Given the description of an element on the screen output the (x, y) to click on. 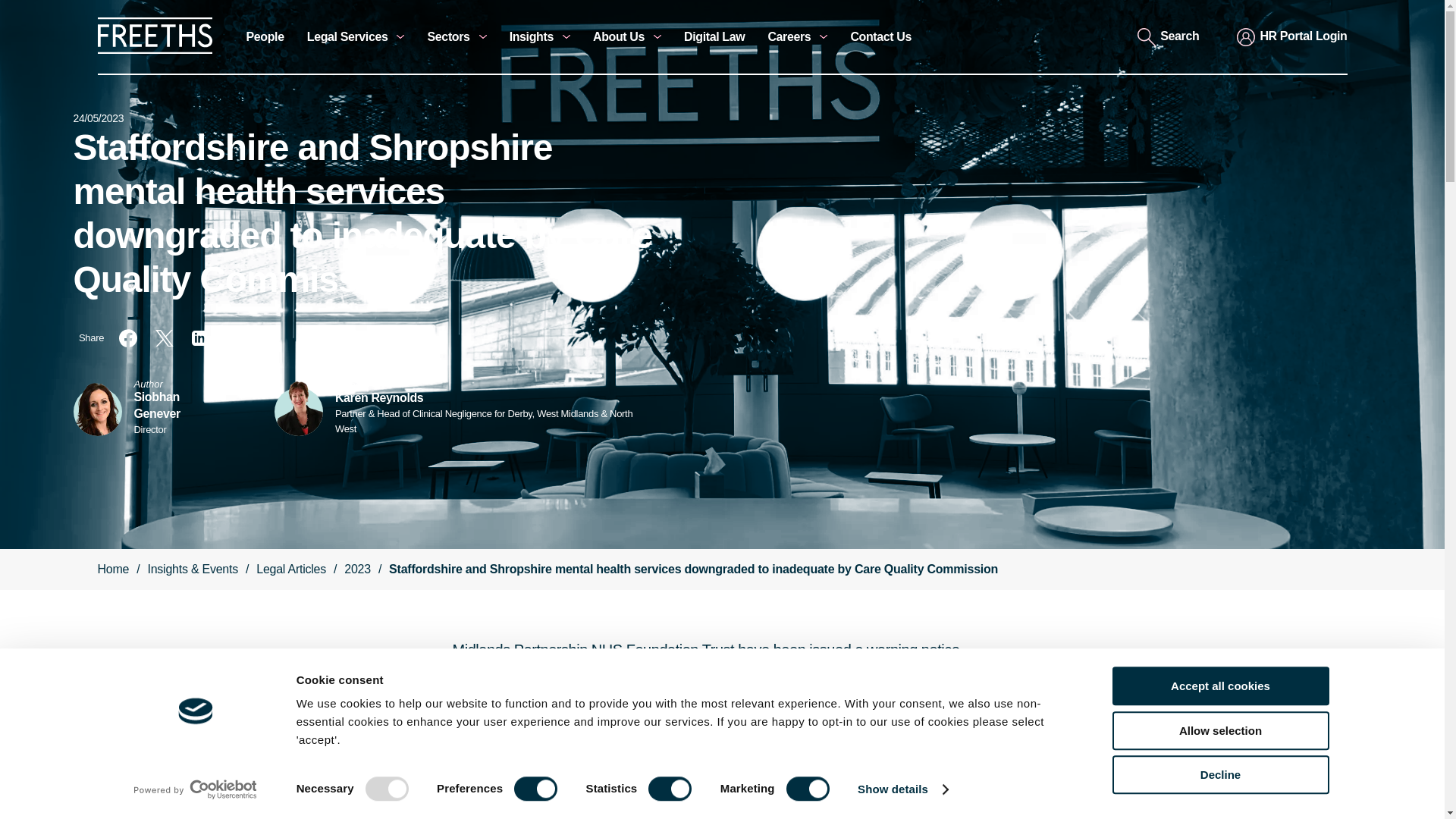
Go to homepage (154, 49)
Share via Facebook (127, 338)
Share via email (236, 338)
Decline (1219, 774)
Show details (902, 789)
Share via X (163, 338)
Allow selection (1219, 730)
Share via LinkedIn (200, 338)
Share (90, 338)
Accept all cookies (1219, 685)
